Given the description of an element on the screen output the (x, y) to click on. 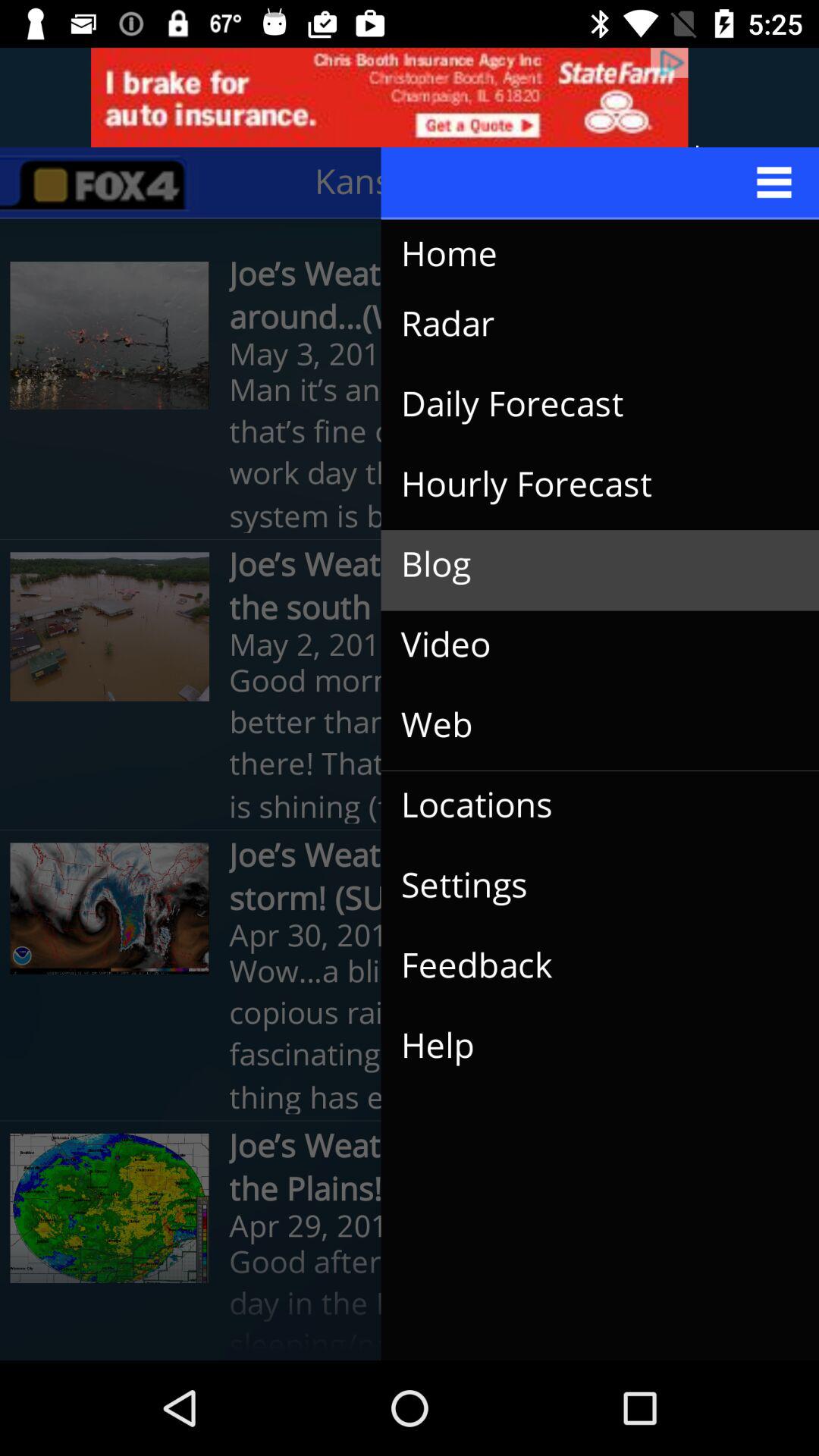
turn on the item below home icon (587, 324)
